Given the description of an element on the screen output the (x, y) to click on. 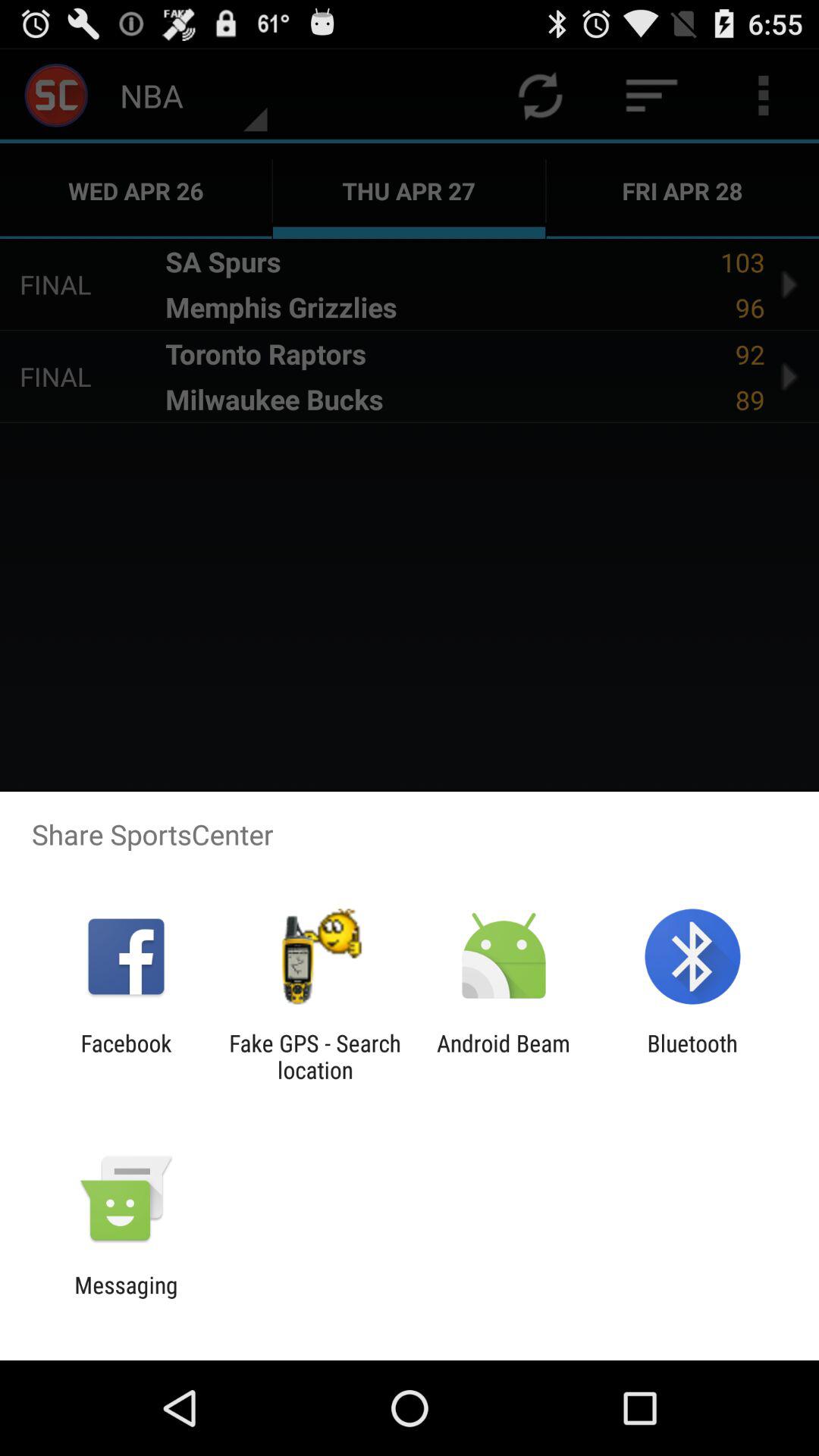
click facebook app (125, 1056)
